Given the description of an element on the screen output the (x, y) to click on. 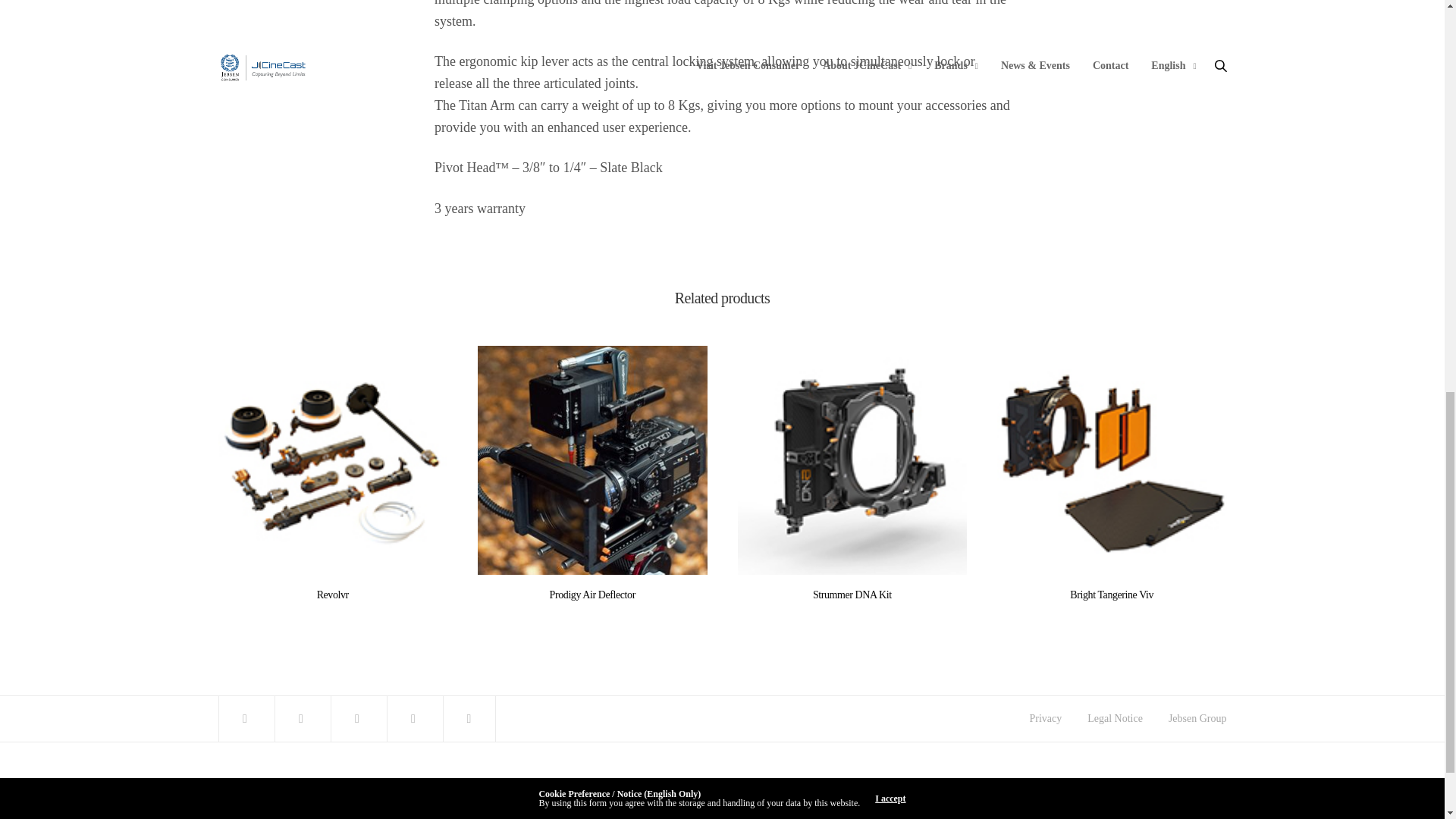
Revolvr (333, 460)
Prodigy Air Deflector (592, 460)
Revolvr (333, 594)
Prodigy Air Deflector (592, 594)
Strummer DNA Kit (851, 460)
